Given the description of an element on the screen output the (x, y) to click on. 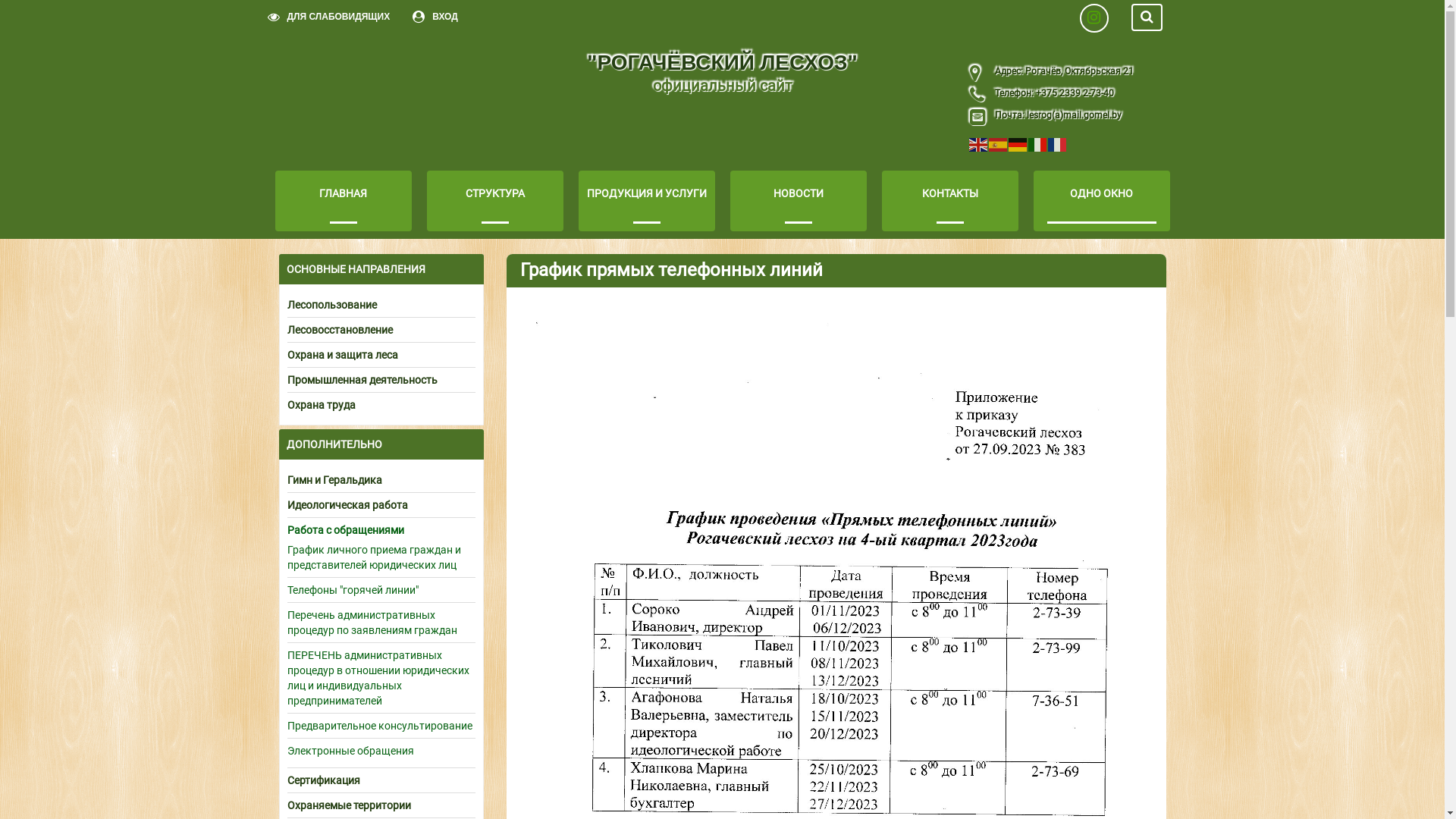
English Element type: hover (978, 144)
+375 2339 2-73-40 Element type: text (1072, 92)
Italiano Element type: hover (1038, 144)
Deutsch Element type: hover (1018, 144)
